Given the description of an element on the screen output the (x, y) to click on. 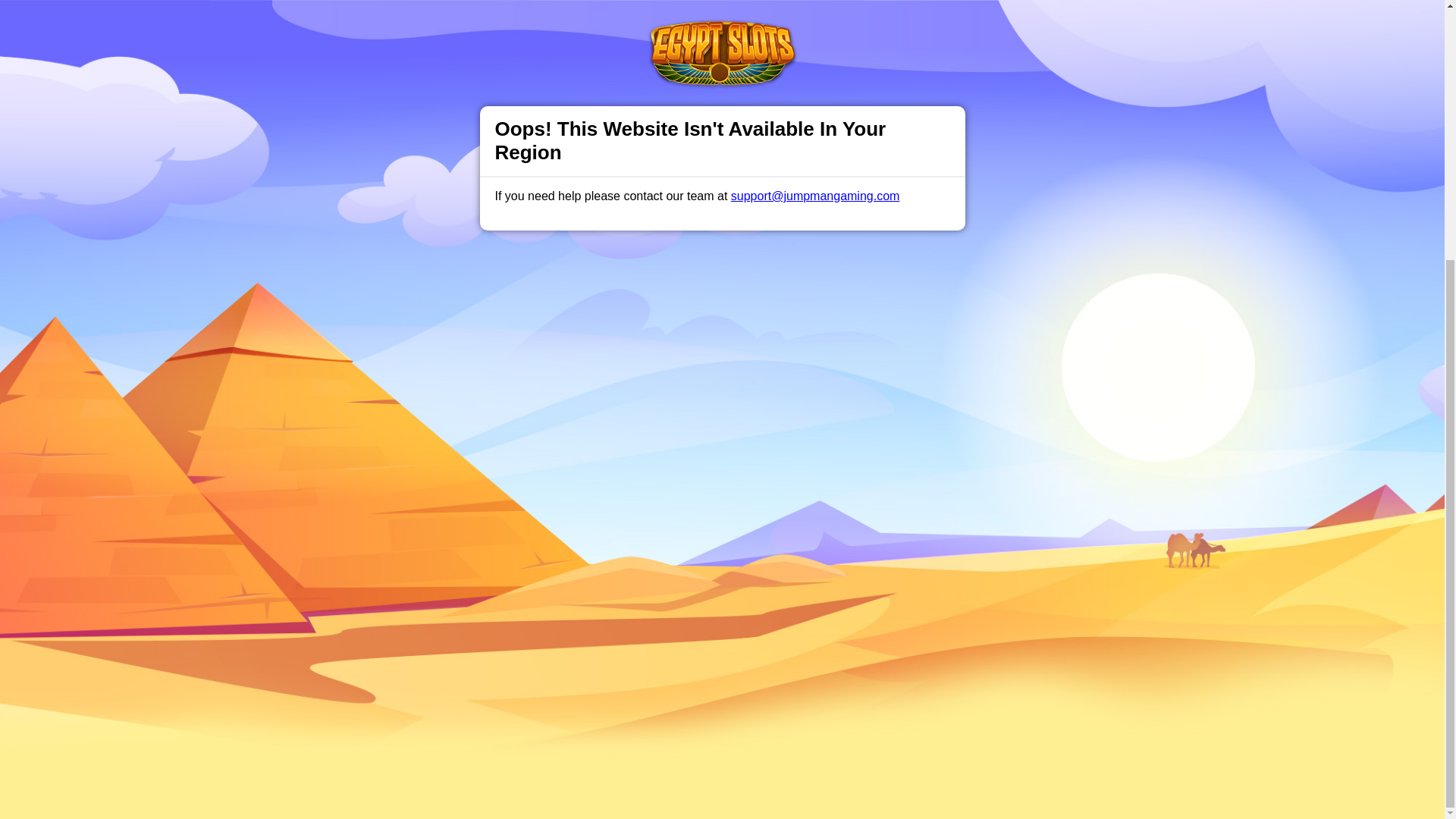
Jumpman Gaming Limited (518, 694)
Back To All Games (722, 393)
Affiliates (791, 491)
www.begambleaware.org (615, 657)
Privacy Policy (671, 491)
39175 (994, 694)
Help (489, 491)
www.jumpmancares.co.uk (738, 657)
Responsible Gaming (407, 491)
Blog (738, 491)
